Given the description of an element on the screen output the (x, y) to click on. 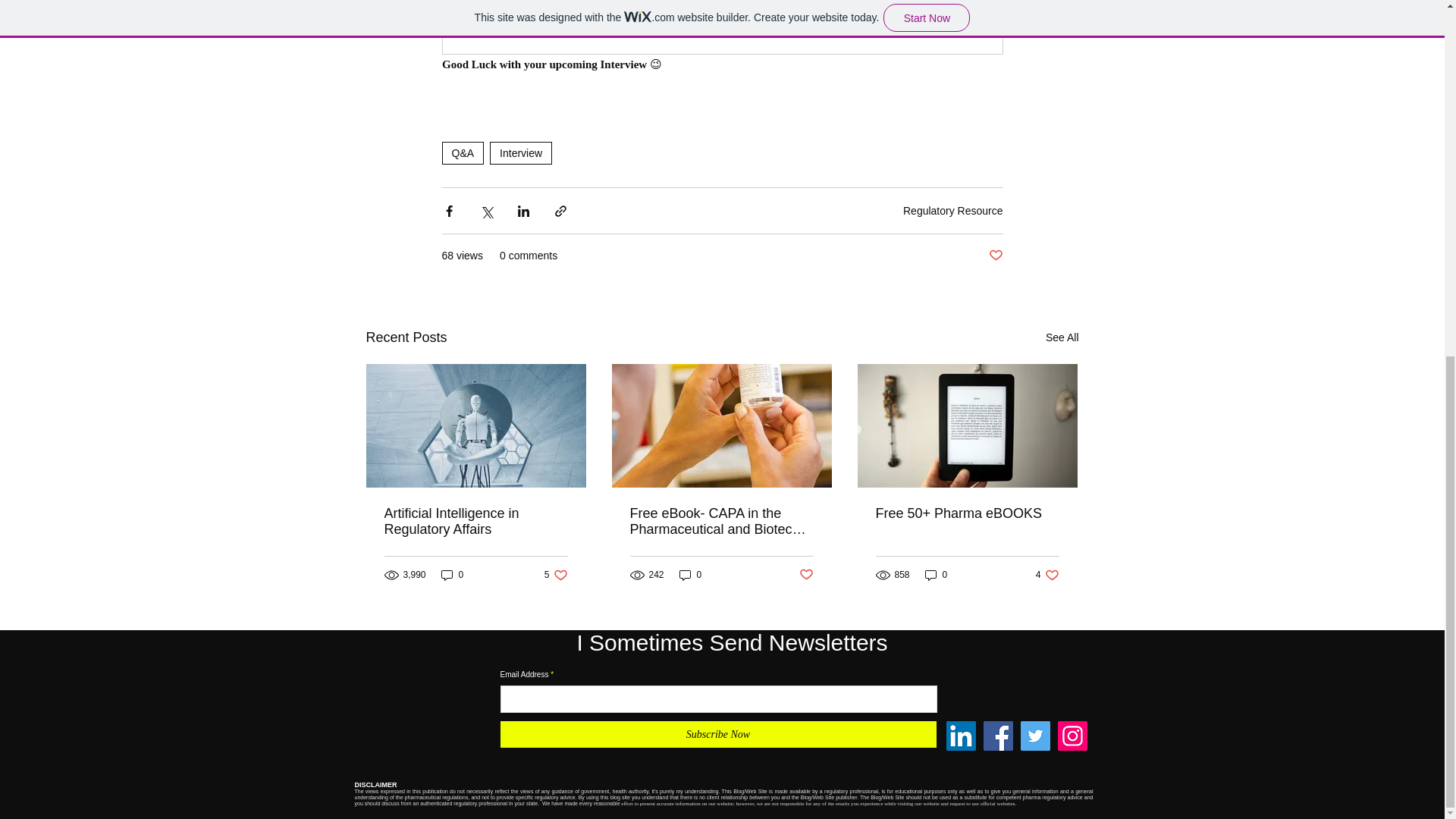
0 (936, 575)
0 (555, 575)
0 (1047, 575)
Interview (690, 575)
Regulatory Resource (452, 575)
Post not marked as liked (520, 152)
See All (952, 210)
Artificial Intelligence in Regulatory Affairs (806, 575)
Subscribe Now (1061, 337)
Post not marked as liked (475, 521)
